Given the description of an element on the screen output the (x, y) to click on. 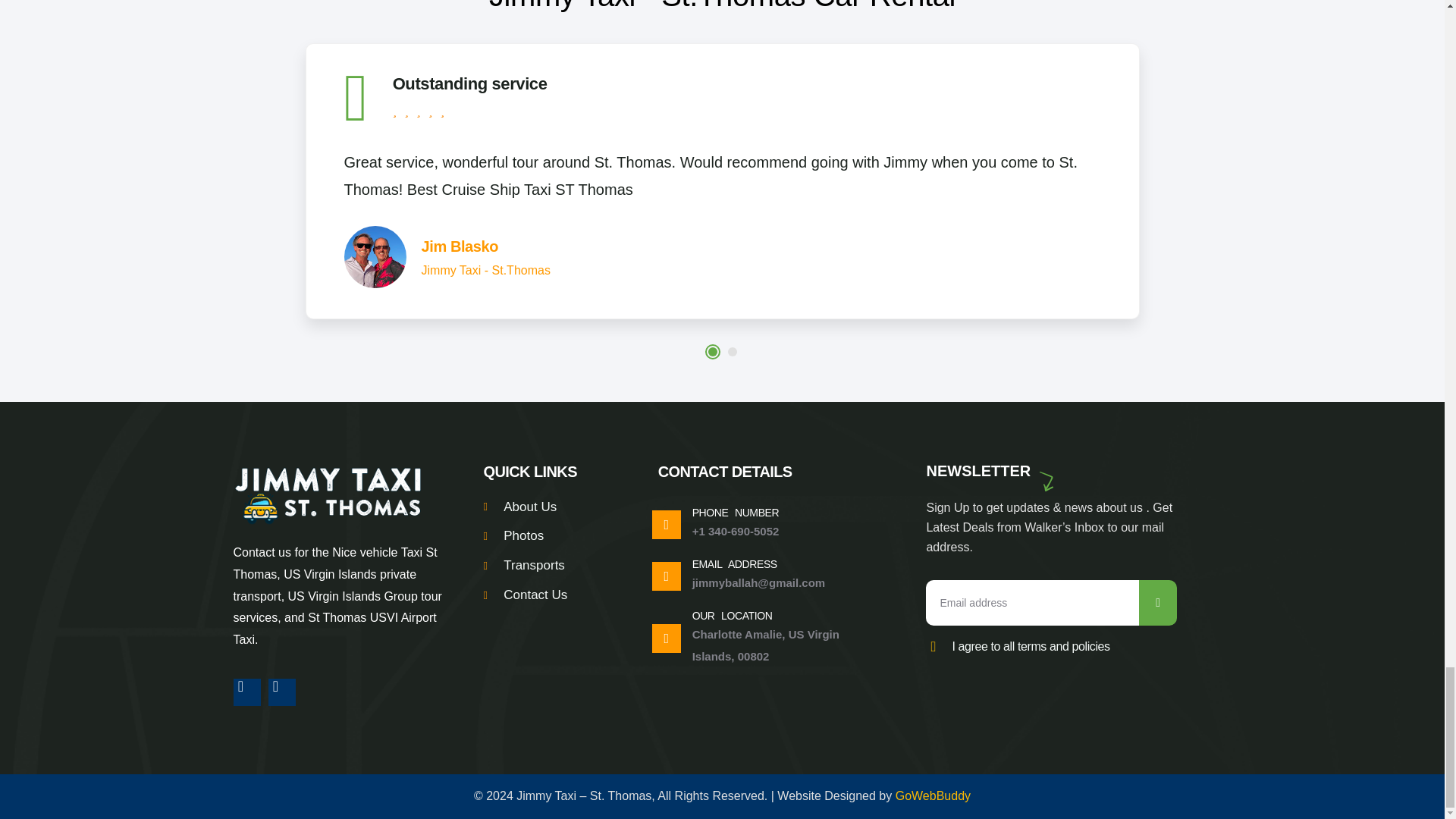
About Us (551, 507)
Home (327, 493)
Transports (551, 566)
Contact Us (551, 595)
EMAIL ADDRESS (735, 563)
Photos (551, 536)
PHONE NUMBER (735, 512)
GoWebBuddy (933, 795)
